Given the description of an element on the screen output the (x, y) to click on. 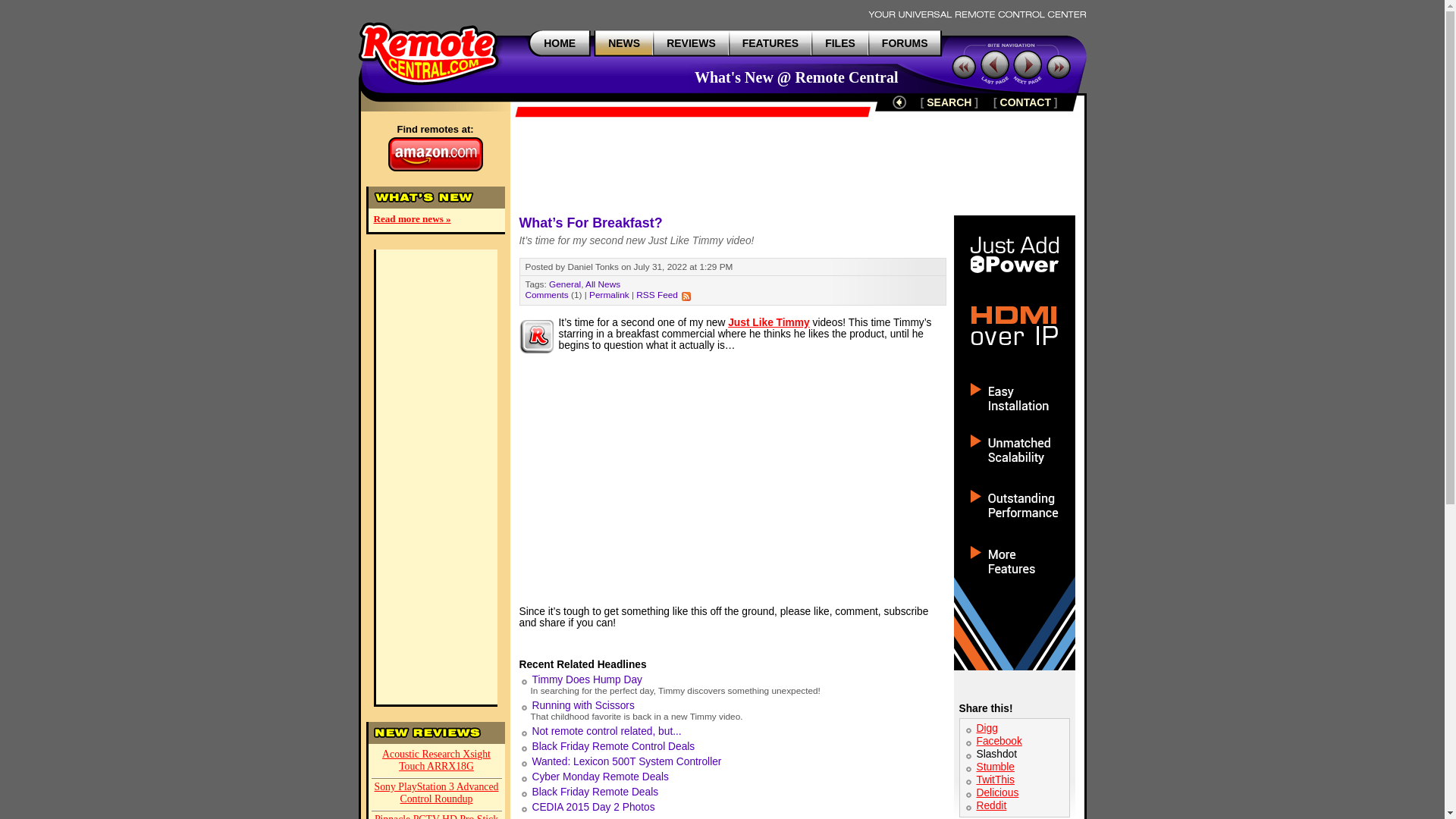
Advertisement (797, 165)
Special reports and sections (769, 42)
Black Friday Remote Control Deals (613, 746)
NEWS (624, 42)
Just Like Timmy (768, 322)
Facebook (999, 740)
SEARCH (948, 102)
TwitThis (995, 779)
Remote Central's RSS News Feed (685, 296)
Slashdot (996, 754)
CONTACT (1025, 102)
CEDIA 2015 Day 2 Photos (593, 807)
FILES (840, 42)
Download remote control files (840, 42)
Find what you need (948, 102)
